Given the description of an element on the screen output the (x, y) to click on. 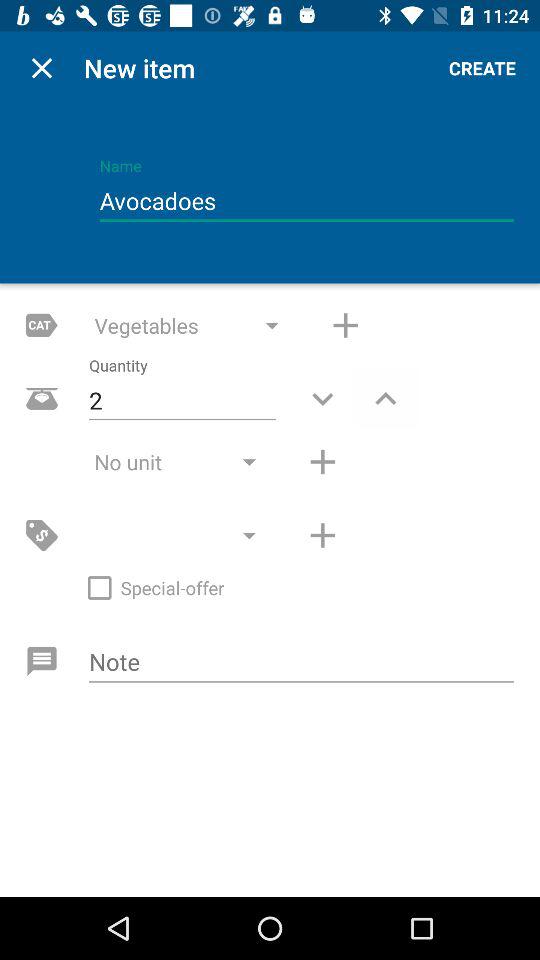
select quantity option (385, 398)
